Given the description of an element on the screen output the (x, y) to click on. 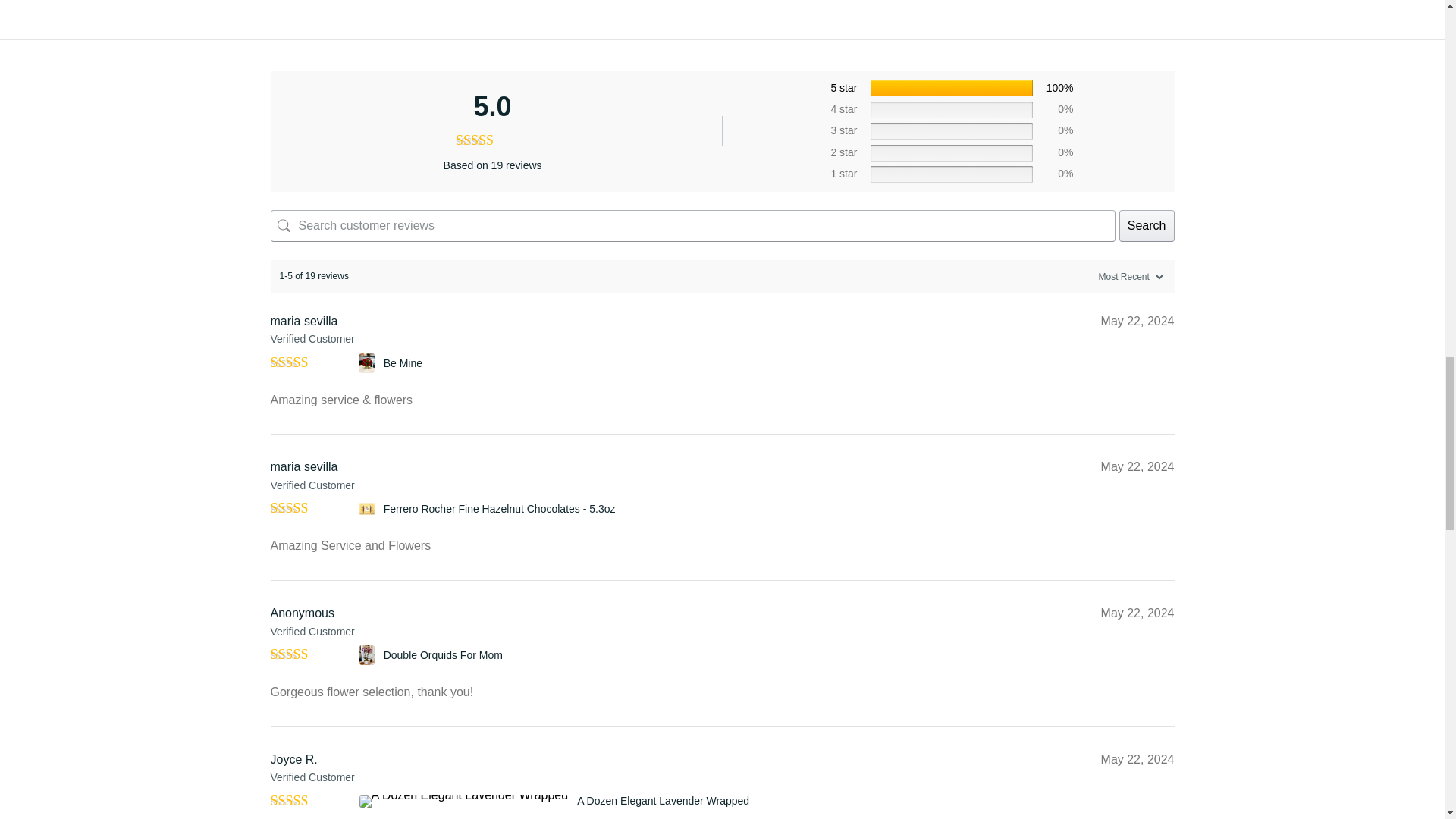
Ferrero Rocher Fine Hazelnut Chocolates - 5.3oz (368, 508)
Be Mine (403, 362)
5 star (843, 87)
Be Mine (368, 362)
